Given the description of an element on the screen output the (x, y) to click on. 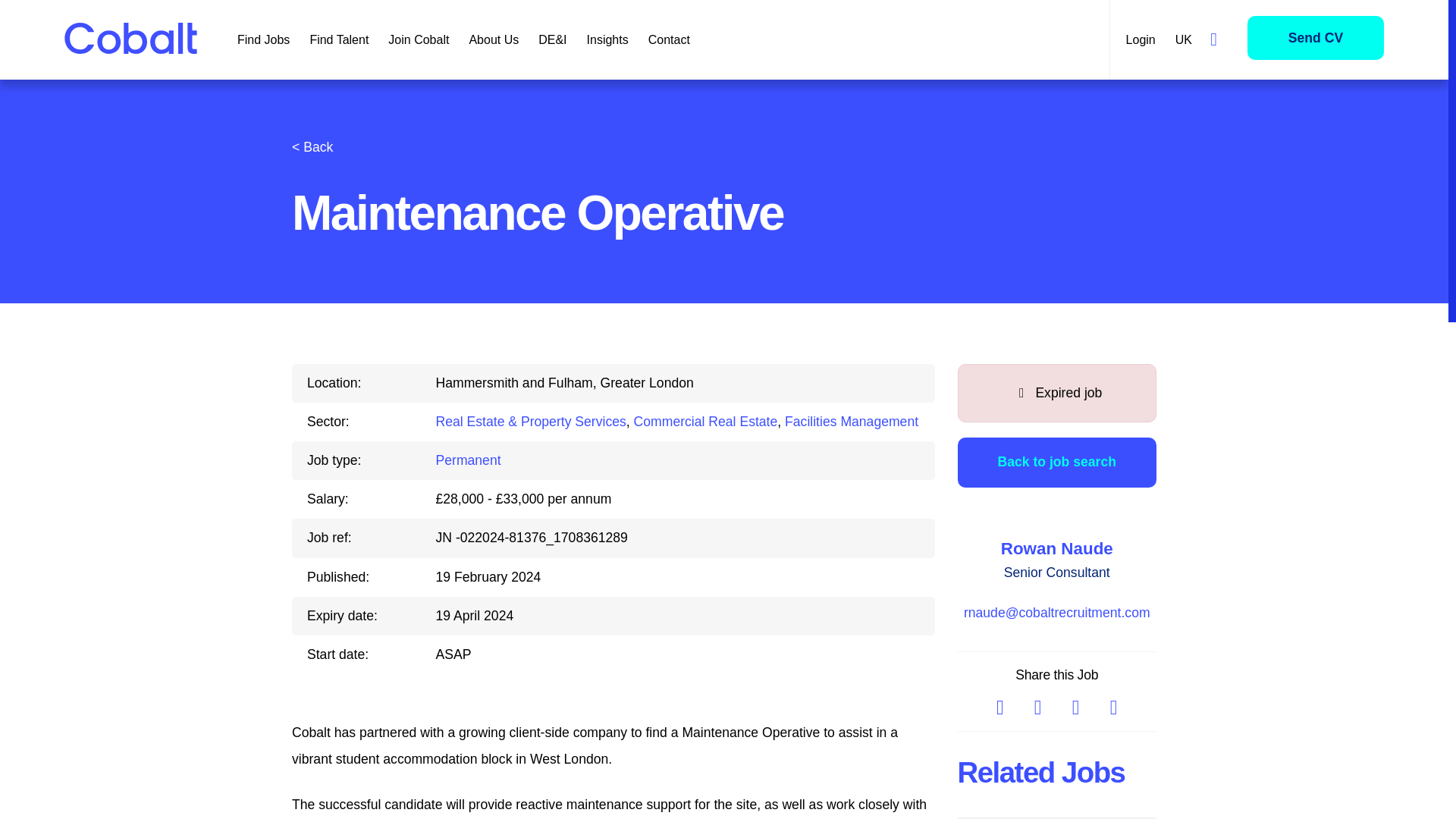
Rowan Naude (1057, 547)
Join Cobalt (418, 39)
About Us (493, 39)
Login (1140, 39)
Permanent (467, 459)
Send CV (1315, 36)
Contact (669, 39)
Find Jobs (263, 39)
Find Talent (339, 39)
Facilities Management (851, 421)
